Given the description of an element on the screen output the (x, y) to click on. 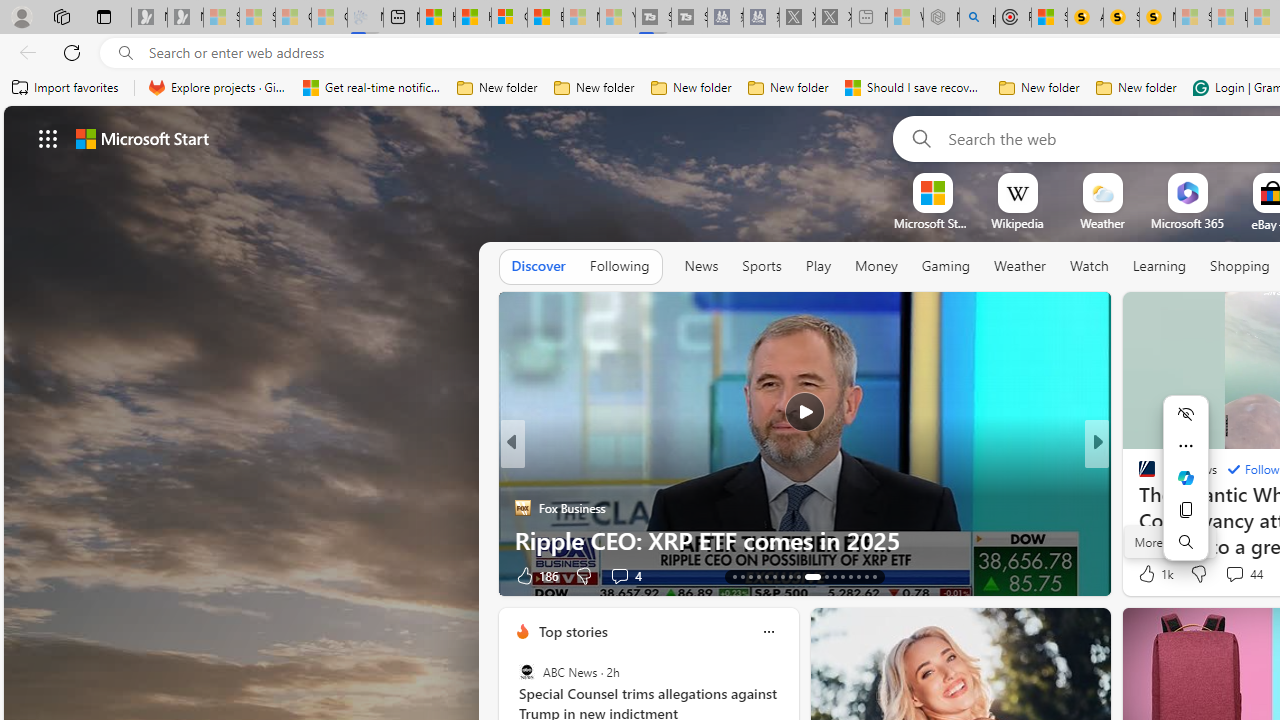
X - Sleeping (833, 17)
News (701, 265)
Search (1185, 542)
Class: icon-img (768, 632)
1k Like (1154, 574)
AutomationID: tab-19 (782, 576)
Nordace.com (1165, 507)
New tab - Sleeping (869, 17)
Money (876, 267)
Learning (1159, 267)
View comments 5 Comment (1229, 575)
Overview (509, 17)
